Given the description of an element on the screen output the (x, y) to click on. 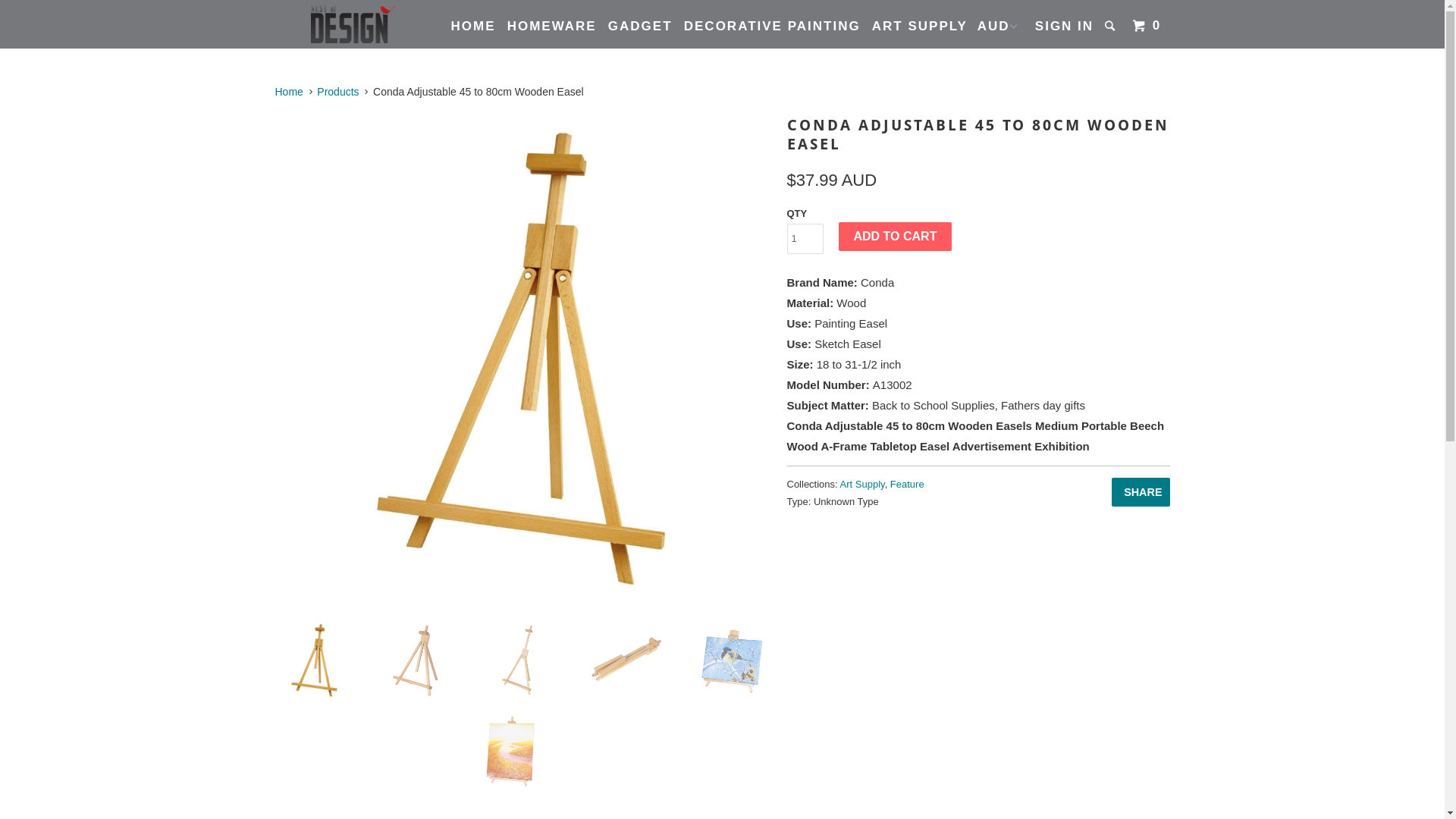
ADD TO CART Element type: text (895, 236)
GADGET Element type: text (640, 26)
SIGN IN Element type: text (1064, 26)
HOME Element type: text (472, 26)
Art Supply Element type: text (862, 483)
0 Element type: text (1148, 26)
ART SUPPLY Element type: text (919, 26)
Search Element type: hover (1111, 26)
Home Element type: text (288, 91)
Feature Element type: text (907, 483)
DECORATIVE PAINTING Element type: text (771, 26)
Conda Adjustable 45 to 80cm Wooden Easel - Nest of Design Element type: hover (528, 360)
Nest of Design Element type: hover (351, 23)
HOMEWARE Element type: text (551, 26)
Products Element type: text (337, 91)
